Given the description of an element on the screen output the (x, y) to click on. 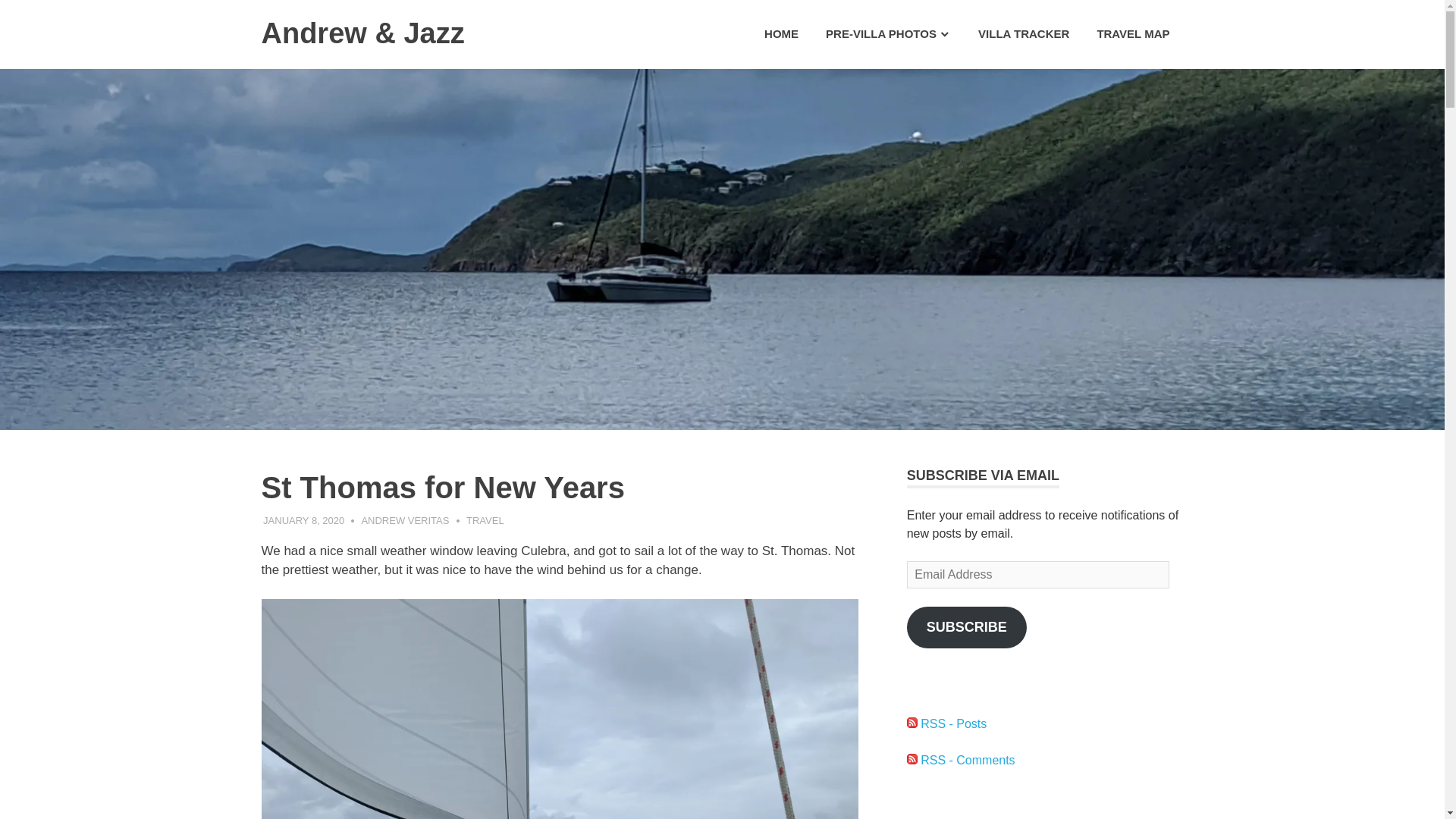
PRE-VILLA PHOTOS (887, 34)
 RSS - Posts (947, 723)
SUBSCRIBE (966, 627)
Subscribe to comments (960, 759)
TRAVEL (484, 520)
4:18 pm (303, 520)
Subscribe to posts (947, 723)
 RSS - Comments (960, 759)
ANDREW VERITAS (404, 520)
View all posts by Andrew Veritas (404, 520)
